Given the description of an element on the screen output the (x, y) to click on. 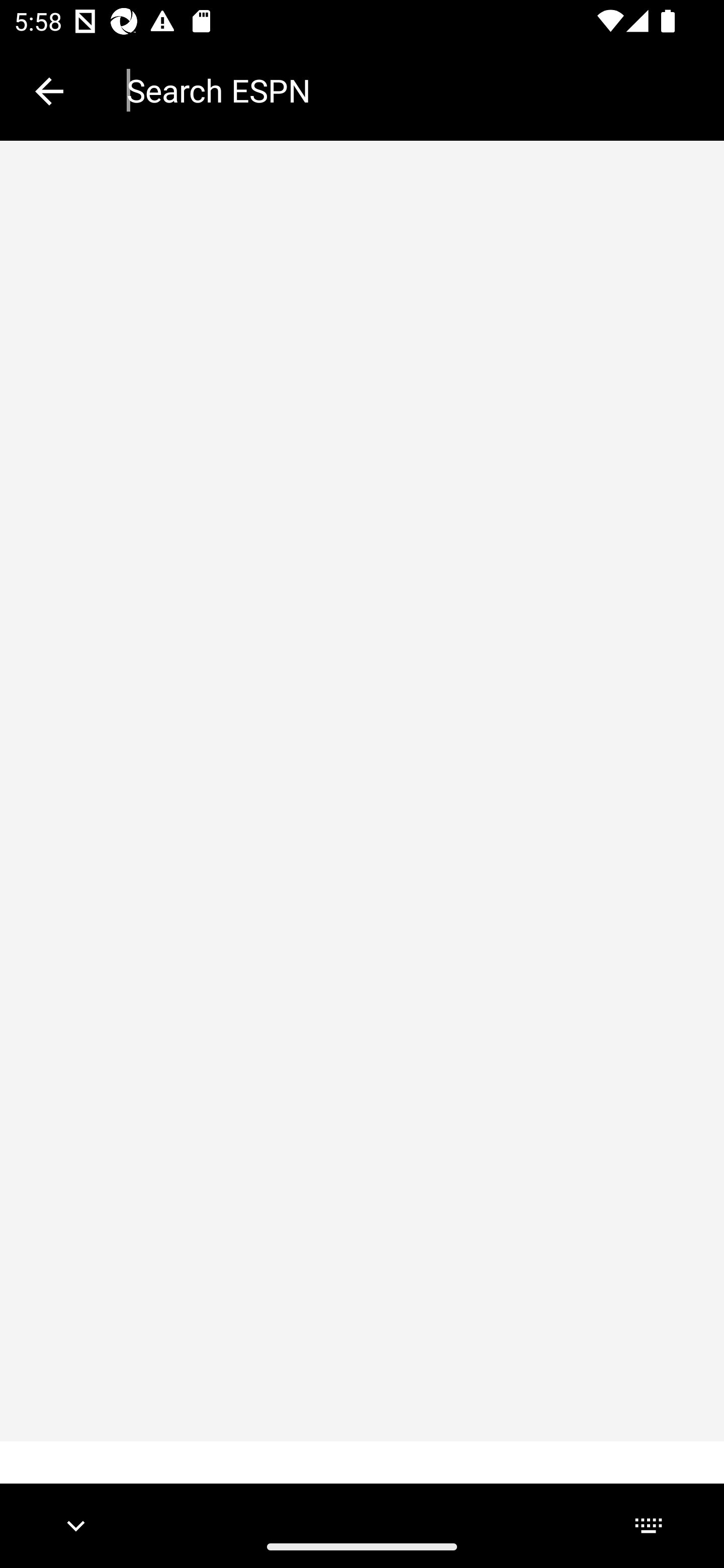
Collapse (49, 91)
Search ESPN (411, 90)
